Given the description of an element on the screen output the (x, y) to click on. 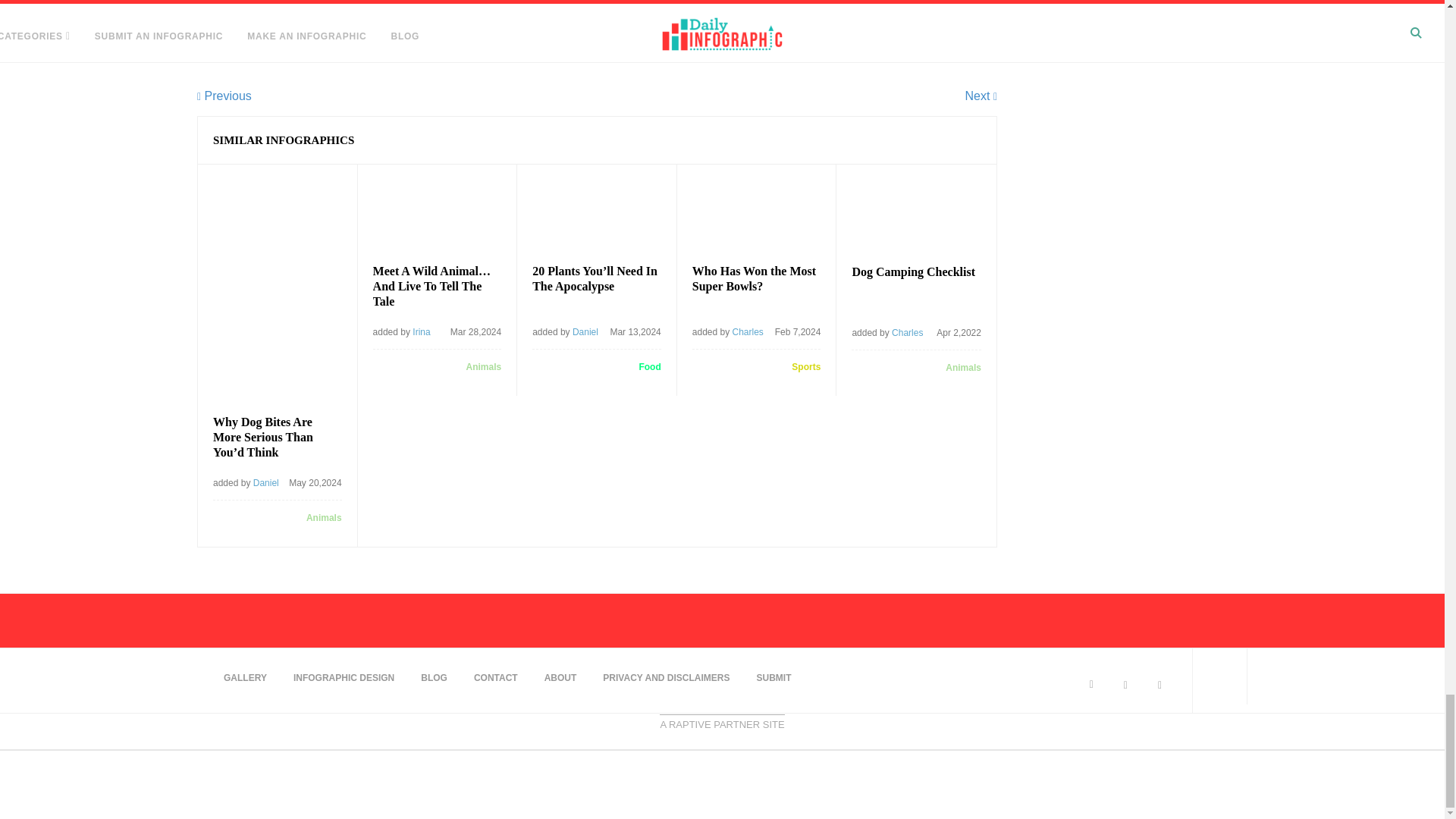
Posts by Charles (747, 331)
Posts by Daniel (266, 482)
Posts by Irina (420, 331)
Posts by Charles (907, 332)
Posts by Daniel (585, 331)
